Given the description of an element on the screen output the (x, y) to click on. 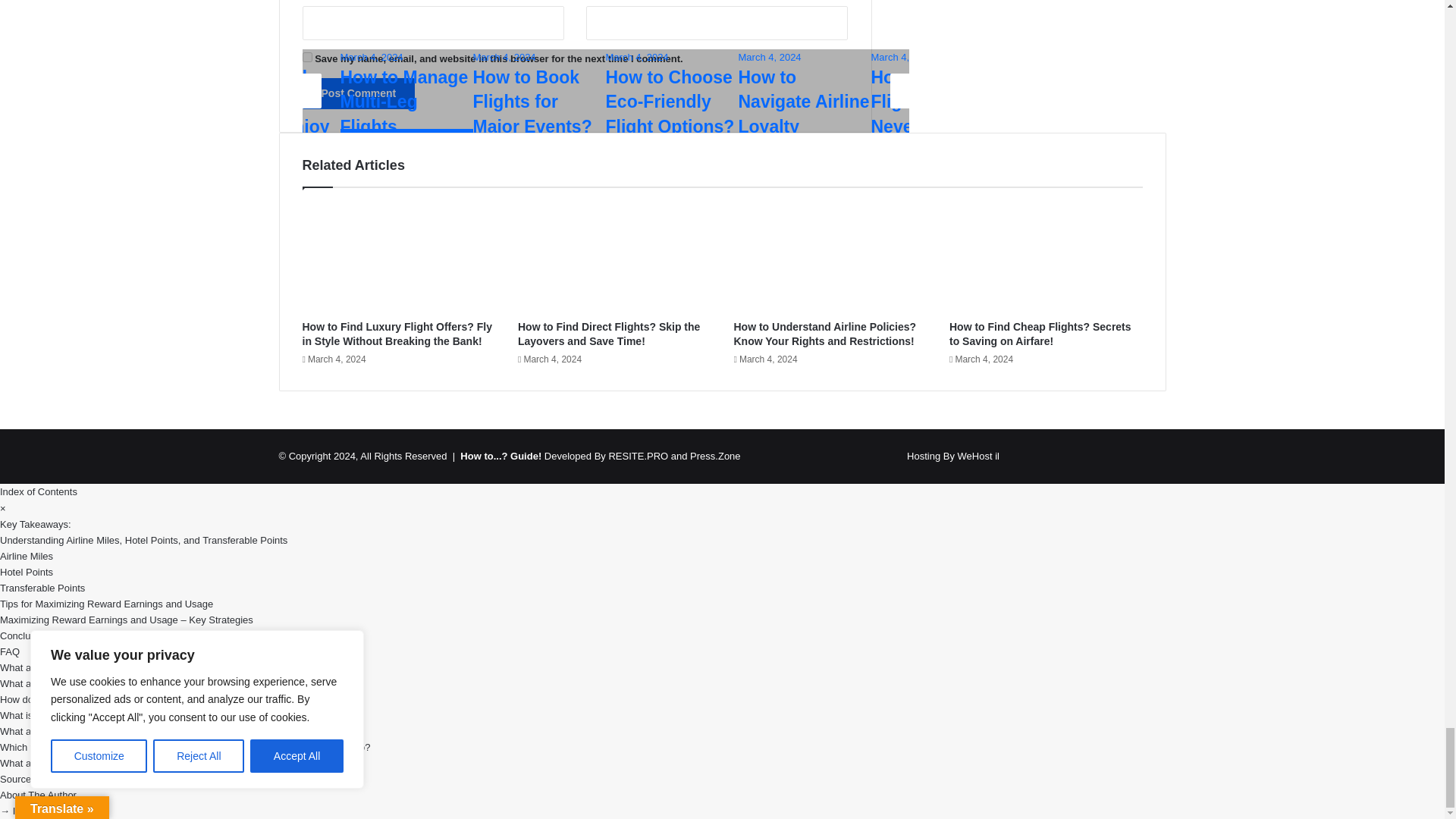
yes (306, 57)
Post Comment (357, 92)
